Given the description of an element on the screen output the (x, y) to click on. 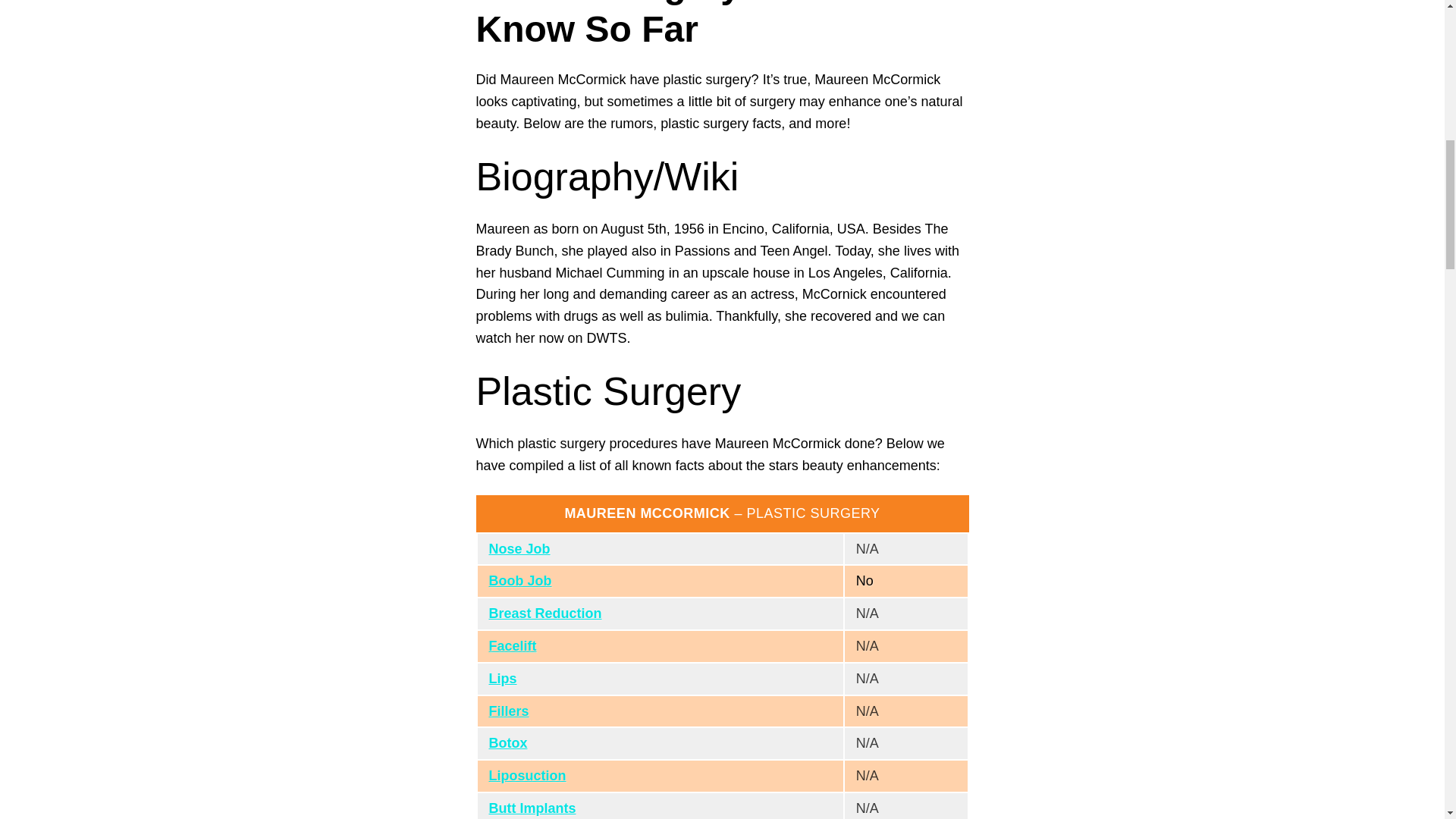
Liposuction (526, 775)
Facelift (511, 645)
Botox (507, 743)
Breast Reduction (544, 613)
Nose Job (518, 548)
Boob Job (519, 580)
Lips (501, 678)
Fillers (507, 711)
Butt Implants (531, 807)
